Given the description of an element on the screen output the (x, y) to click on. 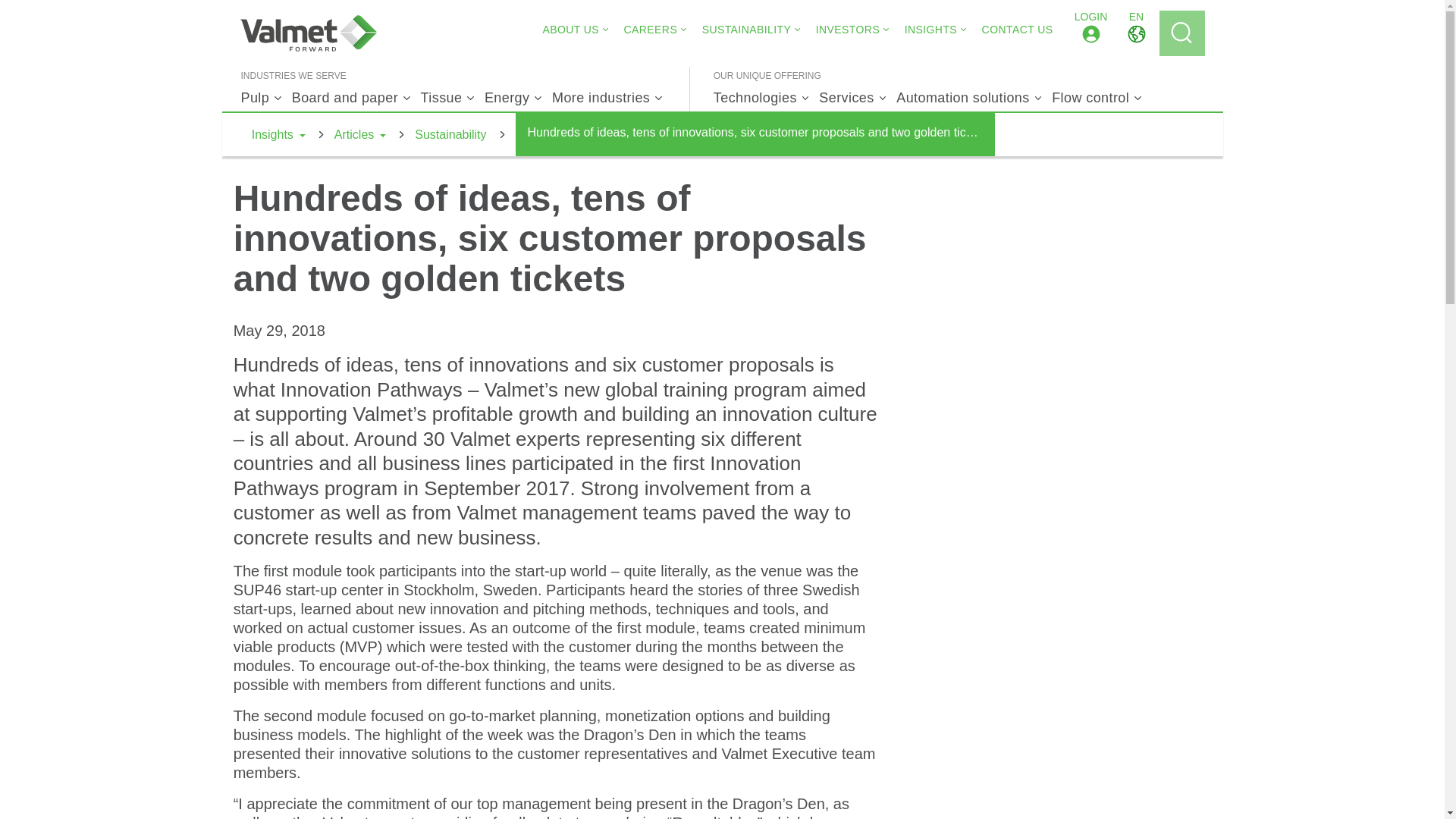
Valmet - Forward (307, 33)
LOGIN (1090, 33)
EN (1135, 33)
ABOUT US (570, 29)
